Given the description of an element on the screen output the (x, y) to click on. 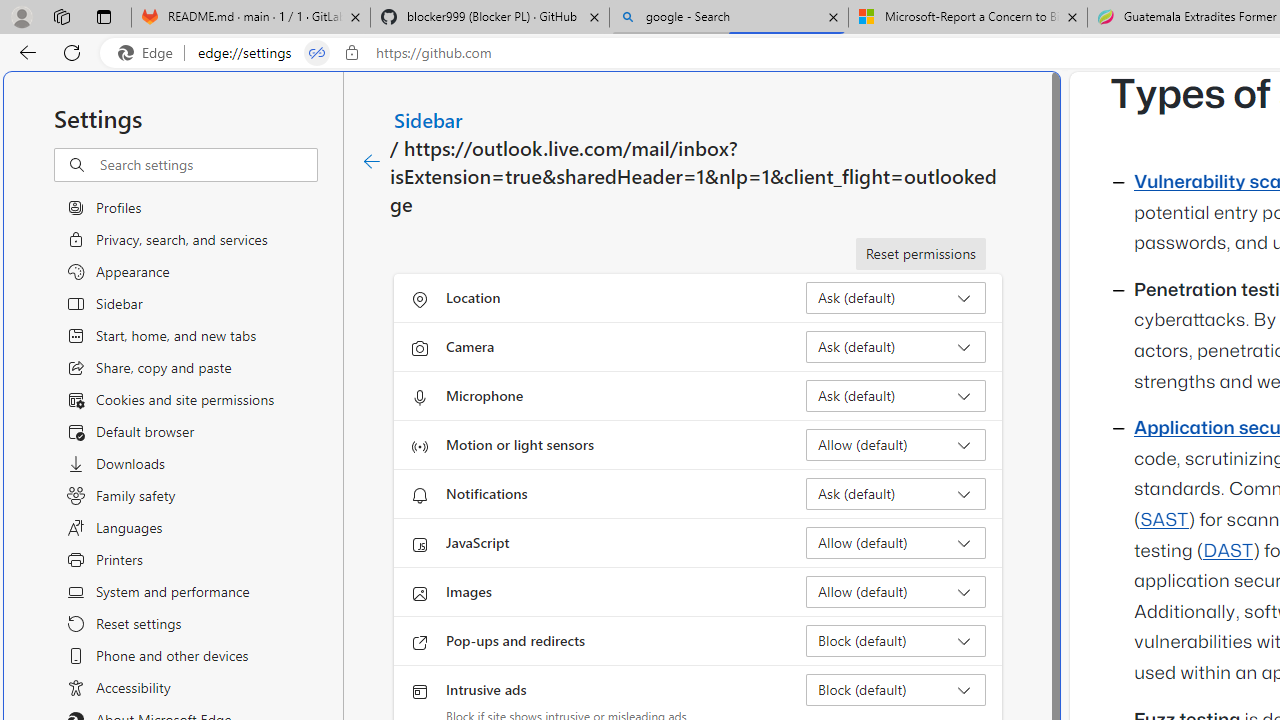
JavaScript Allow (default) (895, 542)
Sidebar (429, 119)
Search settings (207, 165)
Go back to Sidebar page. (372, 162)
Camera Ask (default) (895, 346)
Pop-ups and redirects Block (default) (895, 640)
Images Allow (default) (895, 591)
SAST (1164, 520)
Microphone Ask (default) (895, 395)
google - Search (729, 17)
Notifications Ask (default) (895, 493)
